Given the description of an element on the screen output the (x, y) to click on. 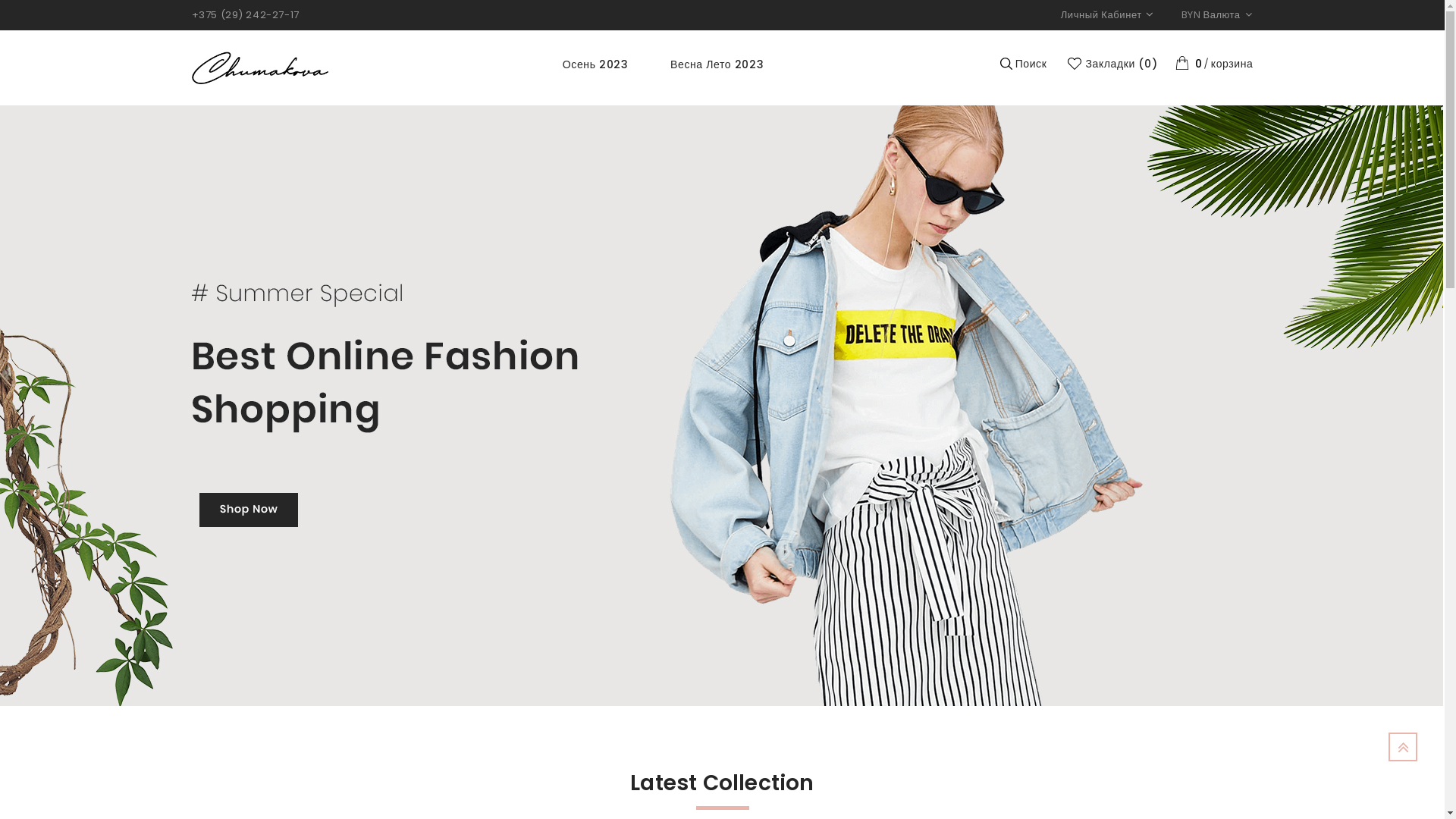
TOP Element type: text (1402, 746)
Chumakova Fashion Store Element type: hover (259, 67)
